Given the description of an element on the screen output the (x, y) to click on. 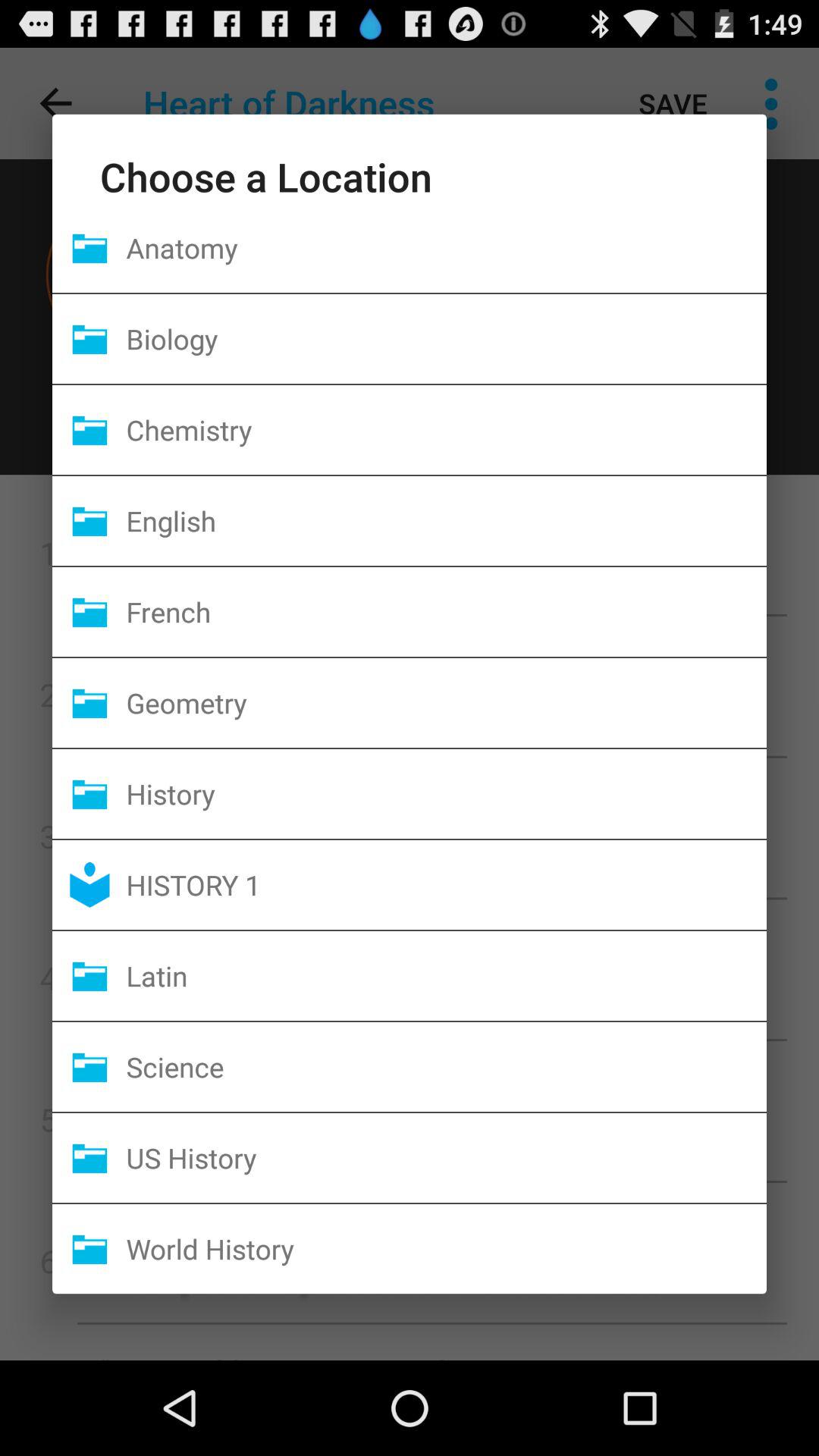
flip until the geometry icon (446, 702)
